Given the description of an element on the screen output the (x, y) to click on. 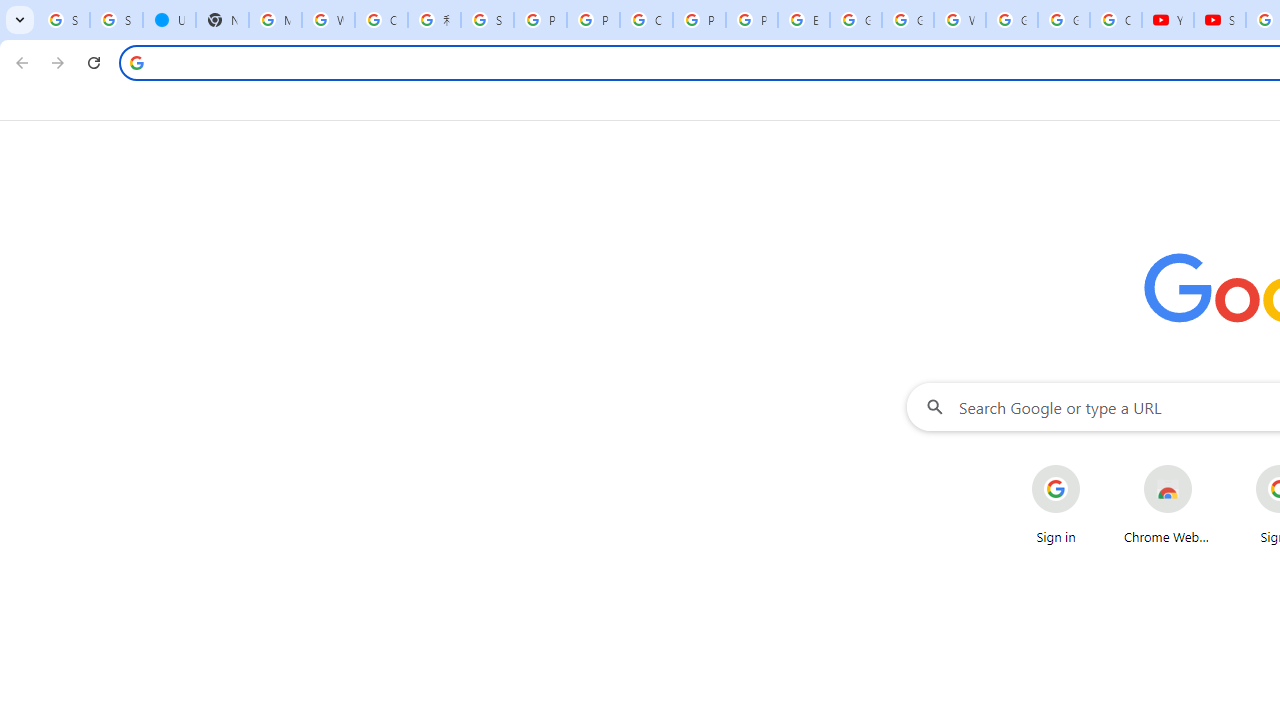
More actions for Sign in shortcut (1095, 466)
YouTube (1167, 20)
USA TODAY (169, 20)
Welcome to My Activity (959, 20)
More actions for Chrome Web Store shortcut (1208, 466)
Google Slides: Sign-in (855, 20)
Sign in - Google Accounts (487, 20)
